Given the description of an element on the screen output the (x, y) to click on. 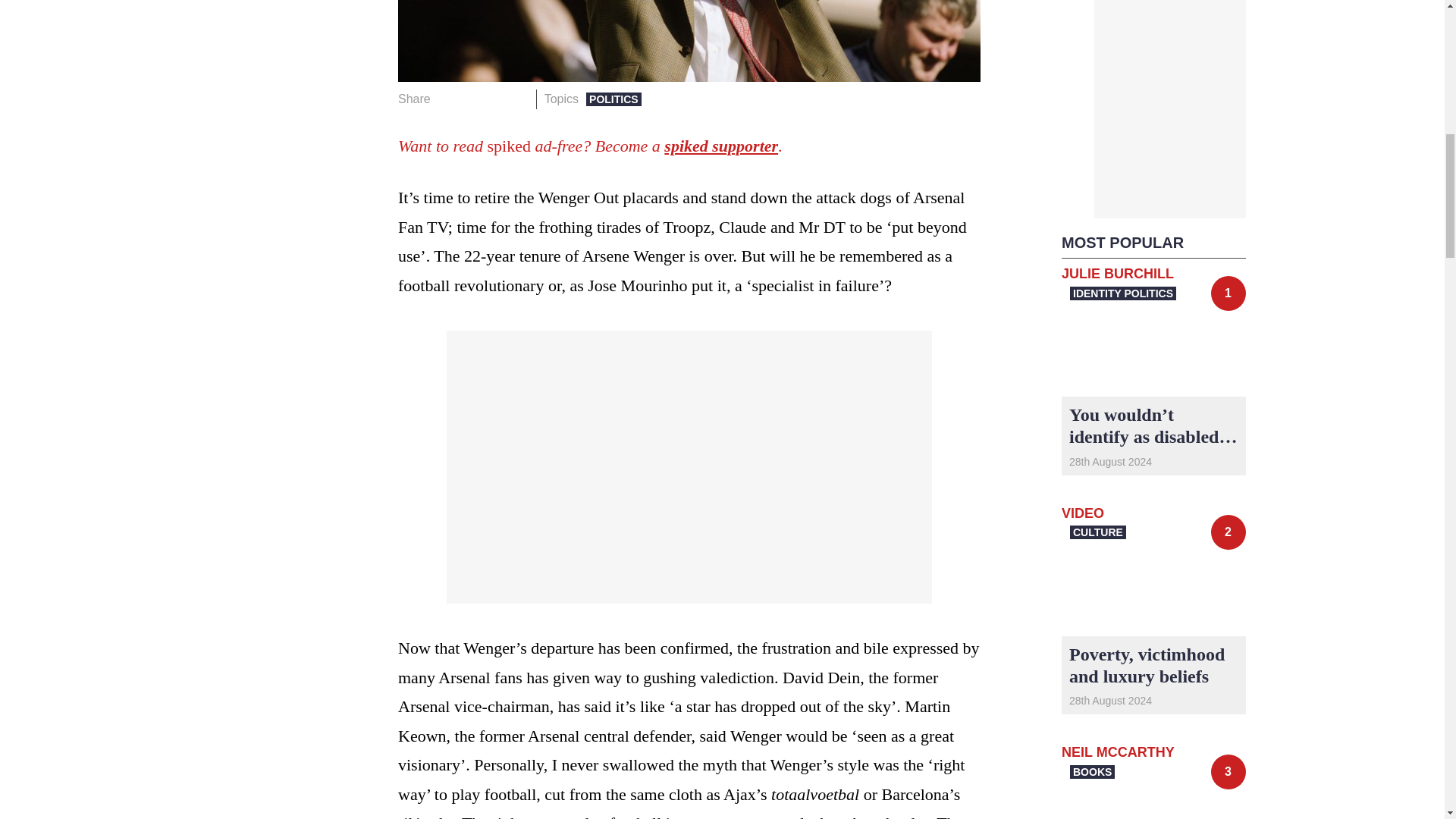
Share on Twitter (471, 98)
Share on Whatsapp (494, 98)
Share on Email (518, 98)
Share on Facebook (448, 98)
